Given the description of an element on the screen output the (x, y) to click on. 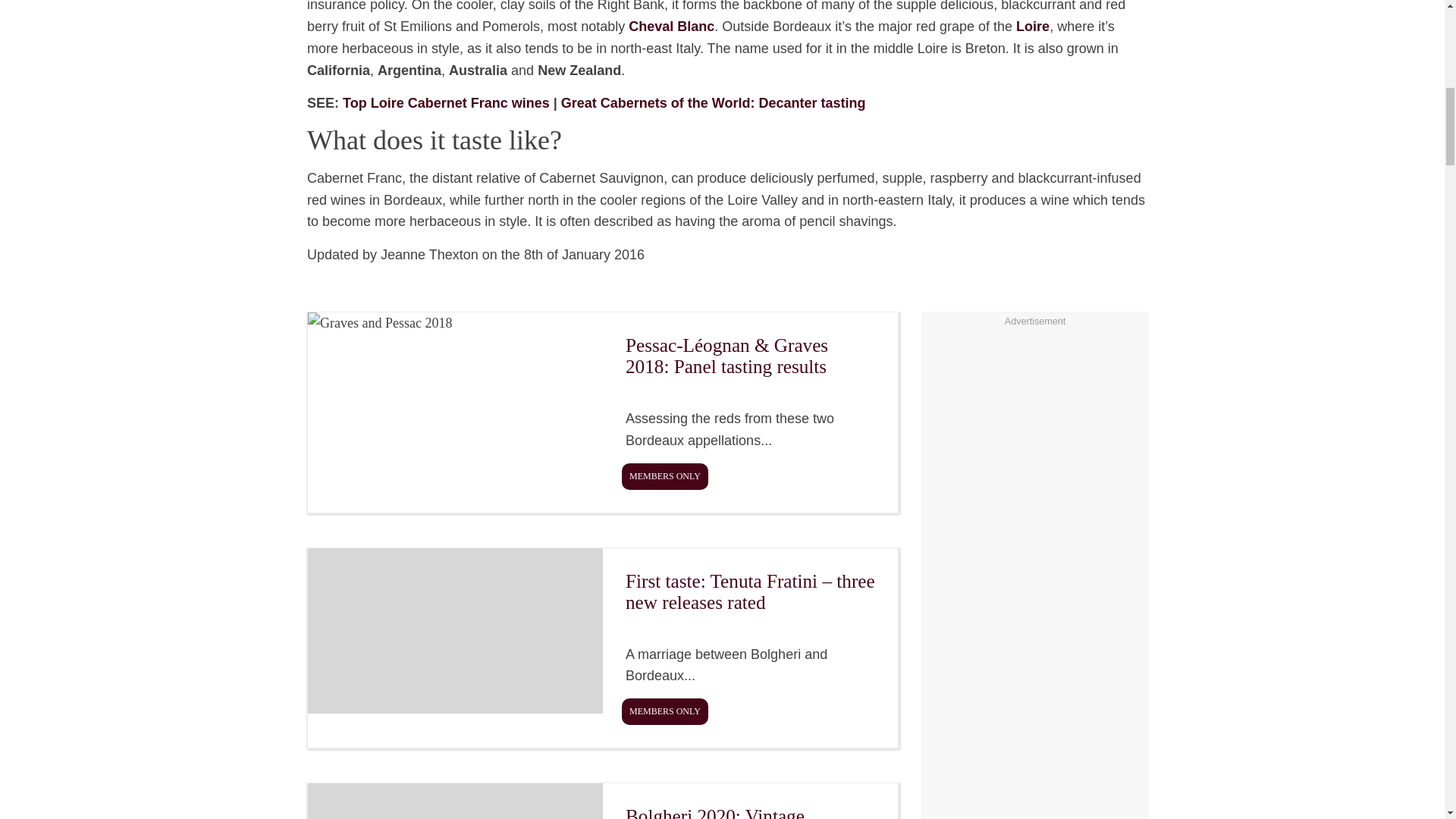
Bolgheri 2020: Vintage overview and top-scoring wines (602, 800)
